Given the description of an element on the screen output the (x, y) to click on. 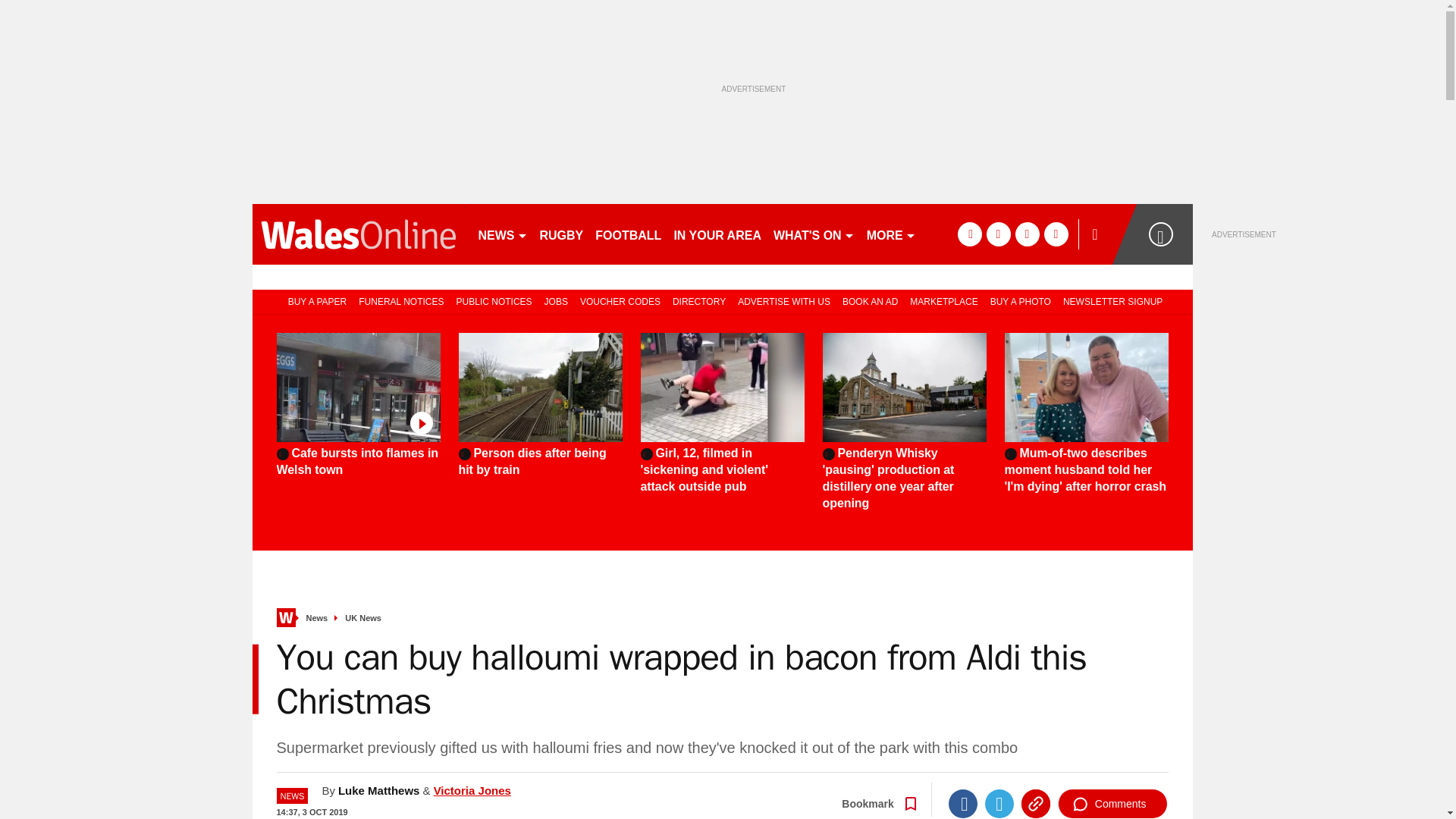
3rd party ad content (1325, 333)
instagram (1055, 233)
3rd party ad content (187, 409)
IN YOUR AREA (716, 233)
Comments (1112, 803)
FOOTBALL (627, 233)
twitter (997, 233)
walesonline (357, 233)
Twitter (999, 803)
pinterest (1026, 233)
WHAT'S ON (813, 233)
Facebook (962, 803)
facebook (968, 233)
MORE (890, 233)
